Given the description of an element on the screen output the (x, y) to click on. 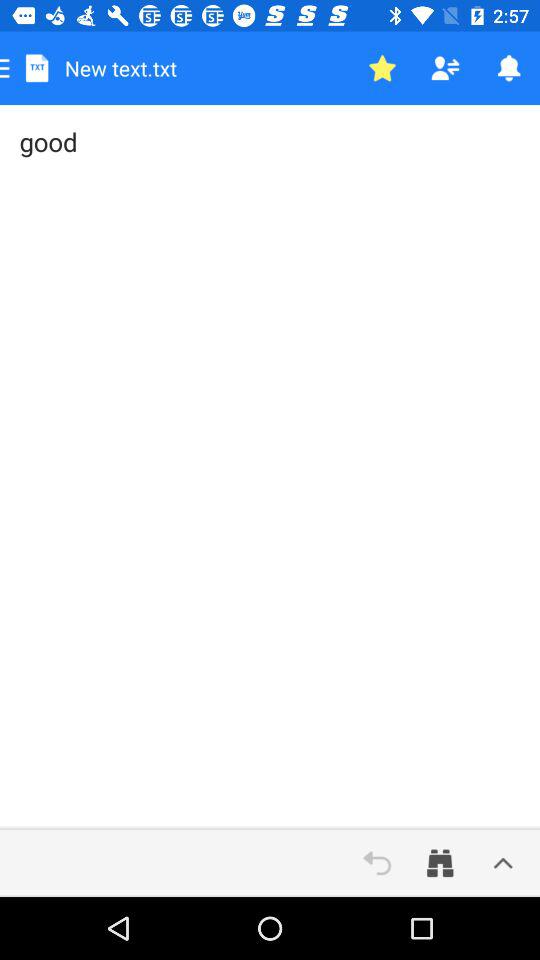
search (440, 863)
